Given the description of an element on the screen output the (x, y) to click on. 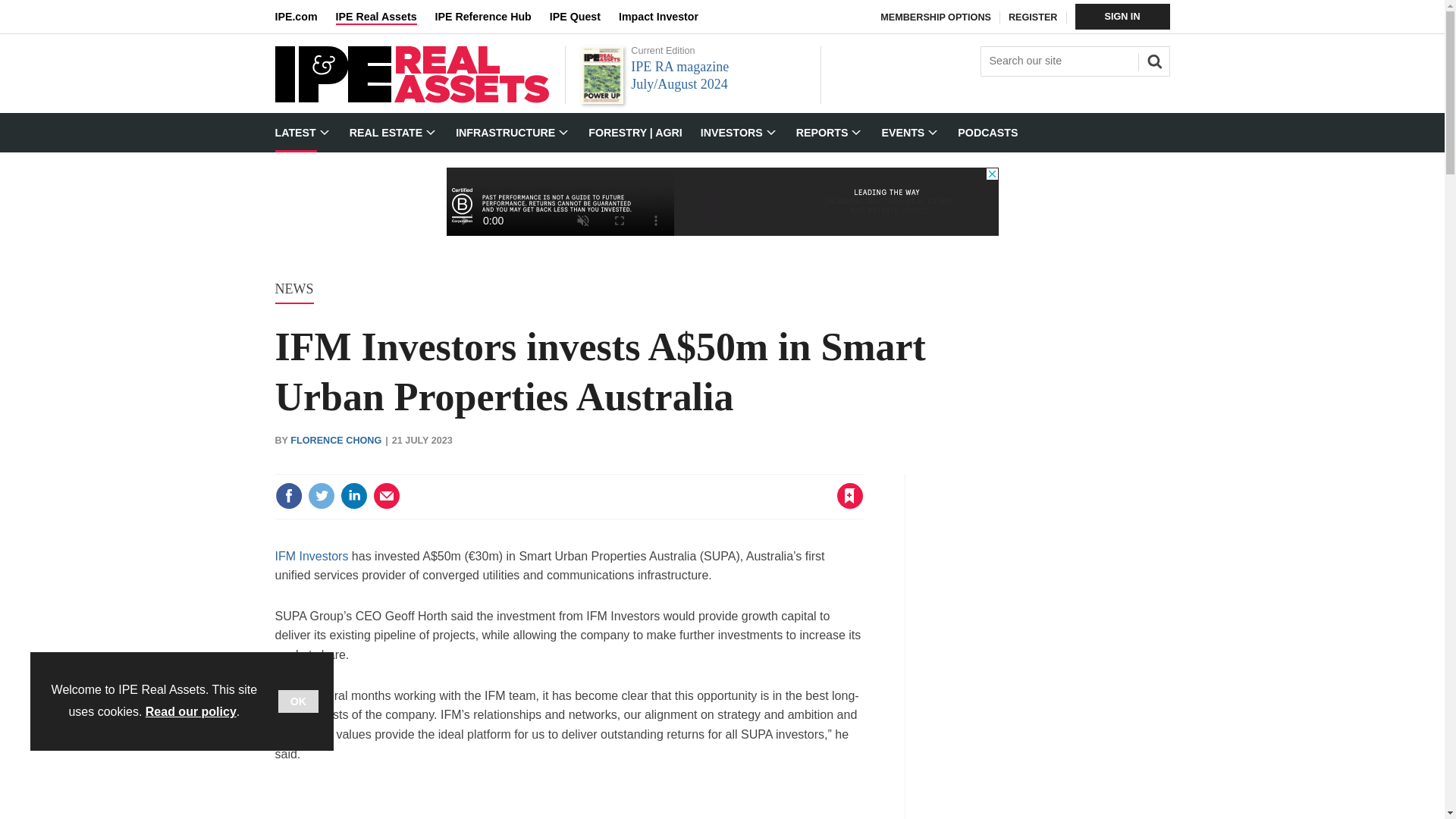
IPE Quest (583, 16)
Real Assets (411, 98)
3rd party ad content (721, 201)
SEARCH (1152, 59)
Impact Investor (667, 16)
OK (298, 701)
Share this on Linked in (352, 495)
IPE.com (304, 16)
Share this on Twitter (320, 495)
IPE Quest (583, 16)
3rd party ad content (568, 801)
MEMBERSHIP OPTIONS (935, 17)
Share this on Facebook (288, 495)
Email this article (386, 495)
IPE Reference Hub (491, 16)
